Given the description of an element on the screen output the (x, y) to click on. 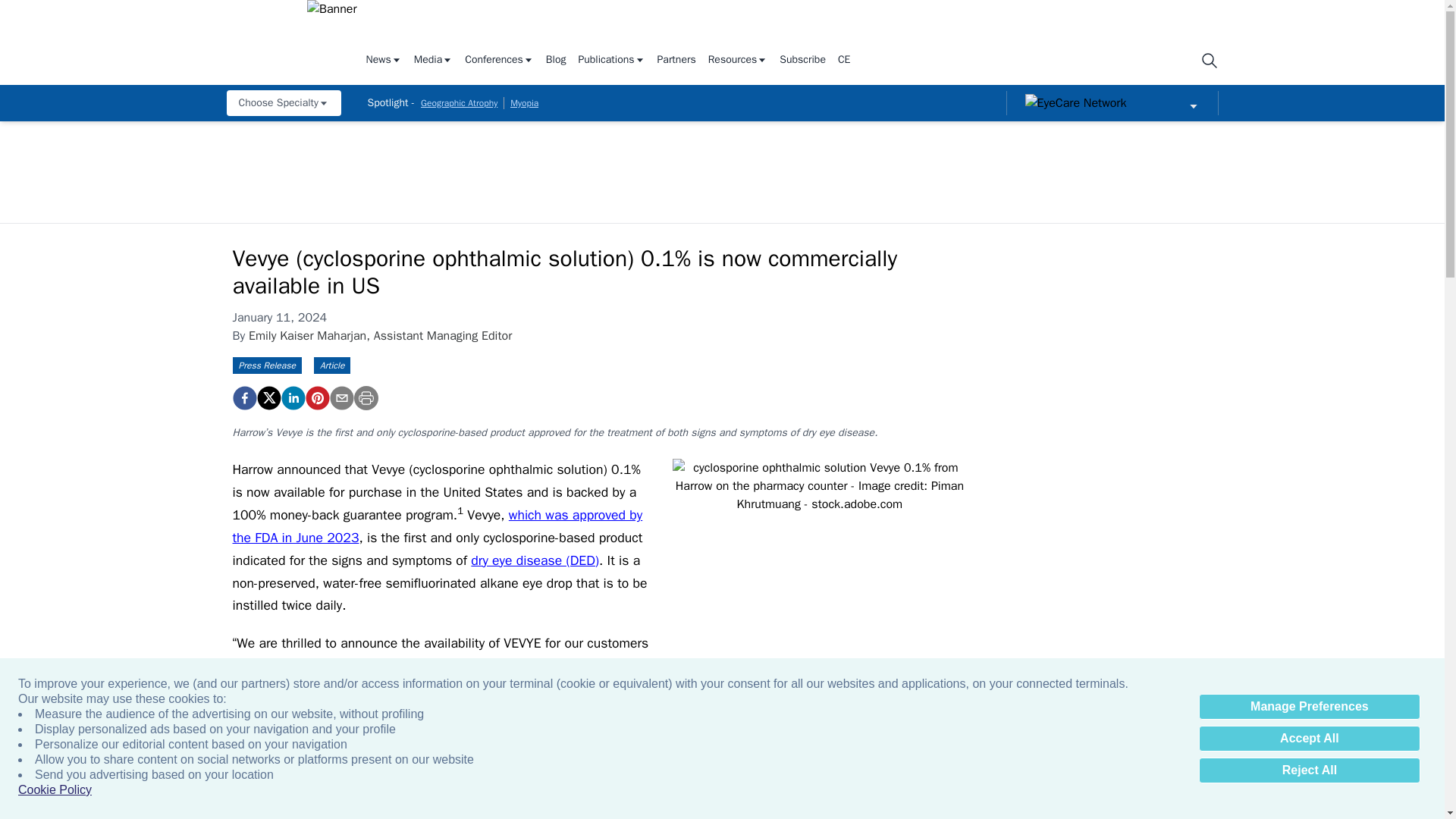
Blog (556, 60)
Manage Preferences (1309, 706)
Cookie Policy (54, 789)
Publications (611, 60)
Partners (676, 60)
Reject All (1309, 769)
Accept All (1309, 738)
Resources (737, 60)
News (383, 60)
Media (432, 60)
Conferences (499, 60)
